Given the description of an element on the screen output the (x, y) to click on. 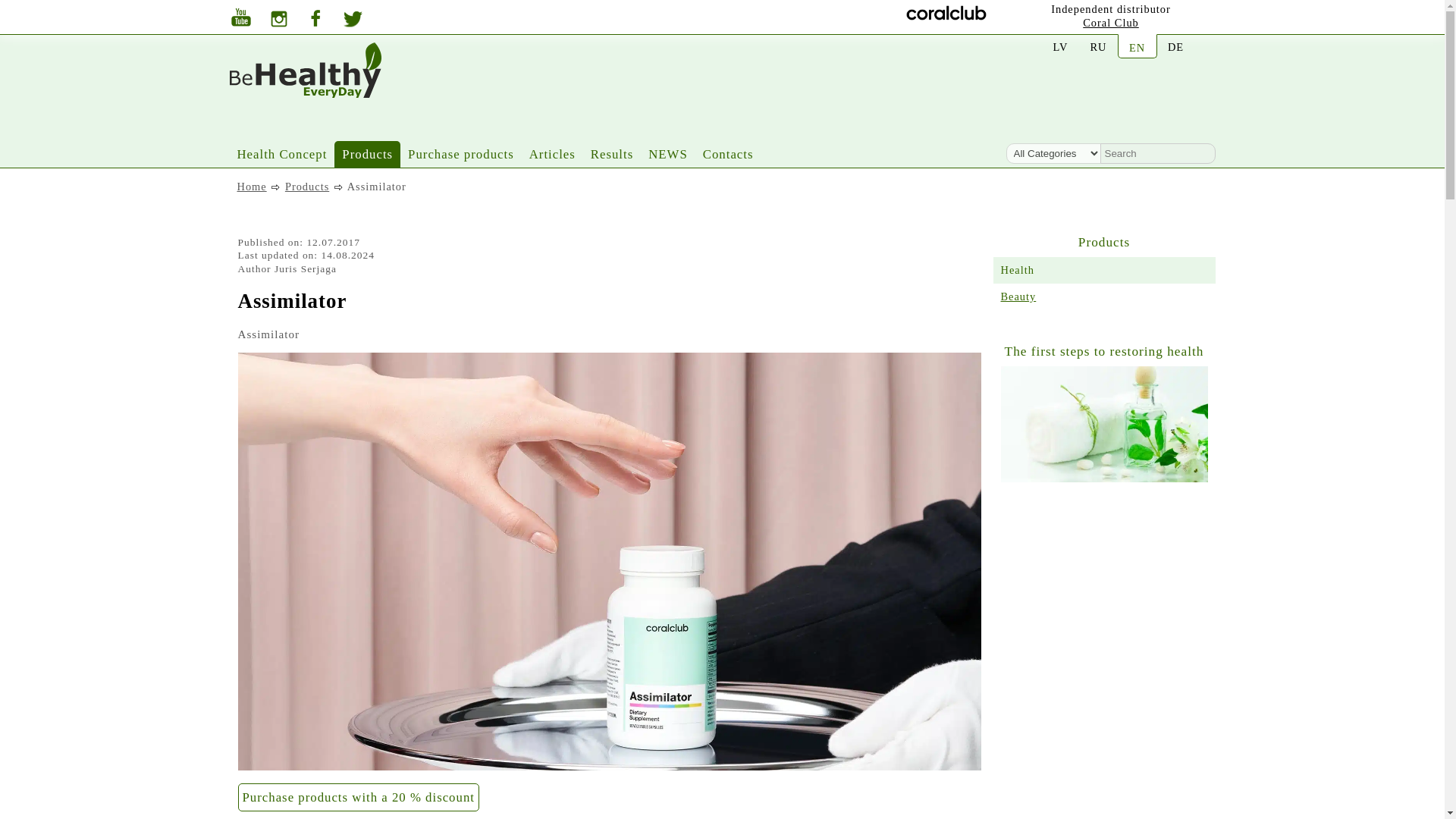
Coral Club official website (1110, 22)
LV (1060, 46)
Health Concept (281, 153)
EN (1137, 47)
The first steps to restoring health (1104, 478)
Juris Serjaga (305, 268)
DE (1175, 46)
RU (1098, 46)
Products (367, 153)
Submit (5, 2)
